Given the description of an element on the screen output the (x, y) to click on. 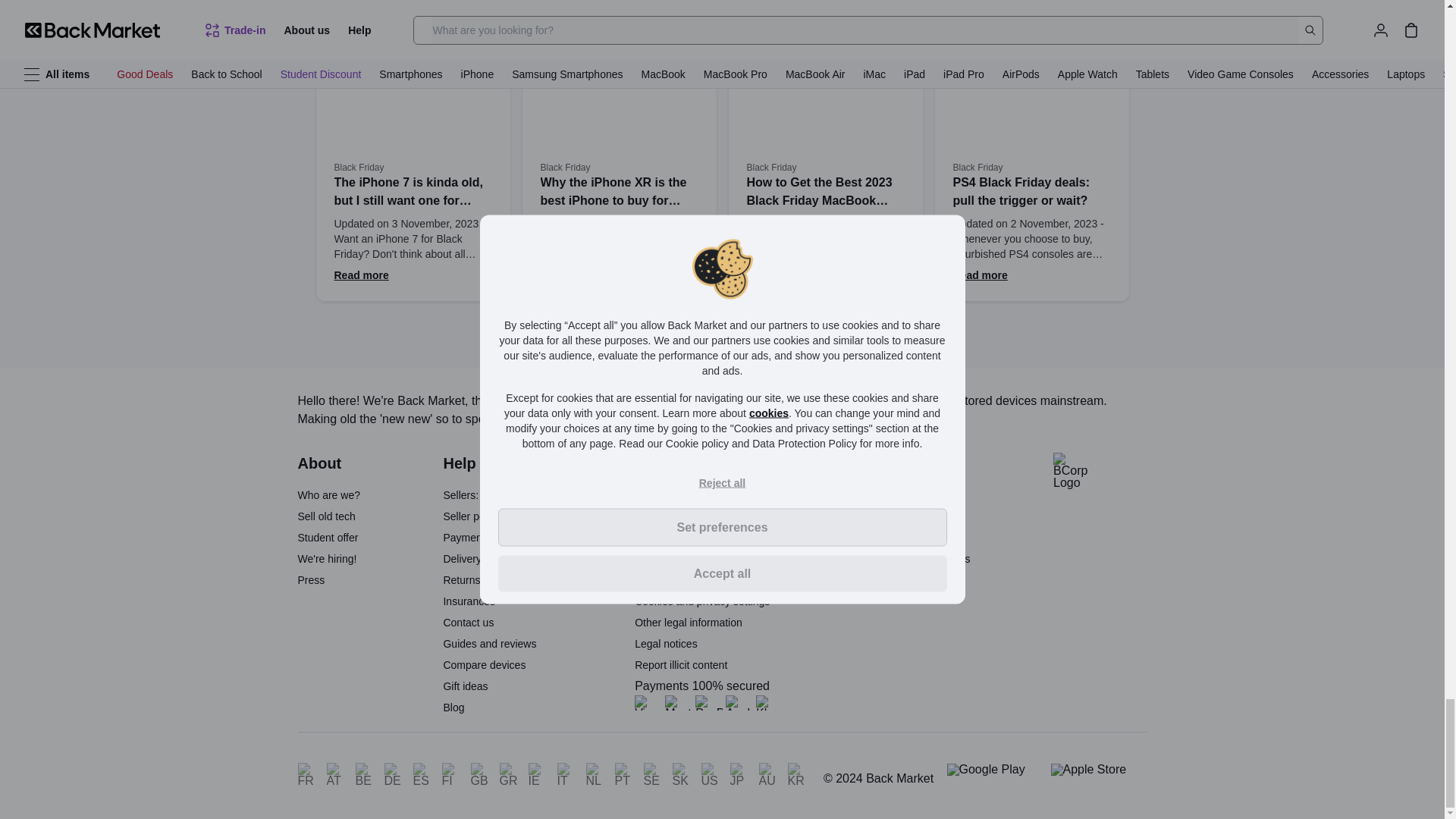
Back Market - instagram (945, 582)
Back Market - facebook (911, 582)
Back Market - linkedin (878, 582)
